Given the description of an element on the screen output the (x, y) to click on. 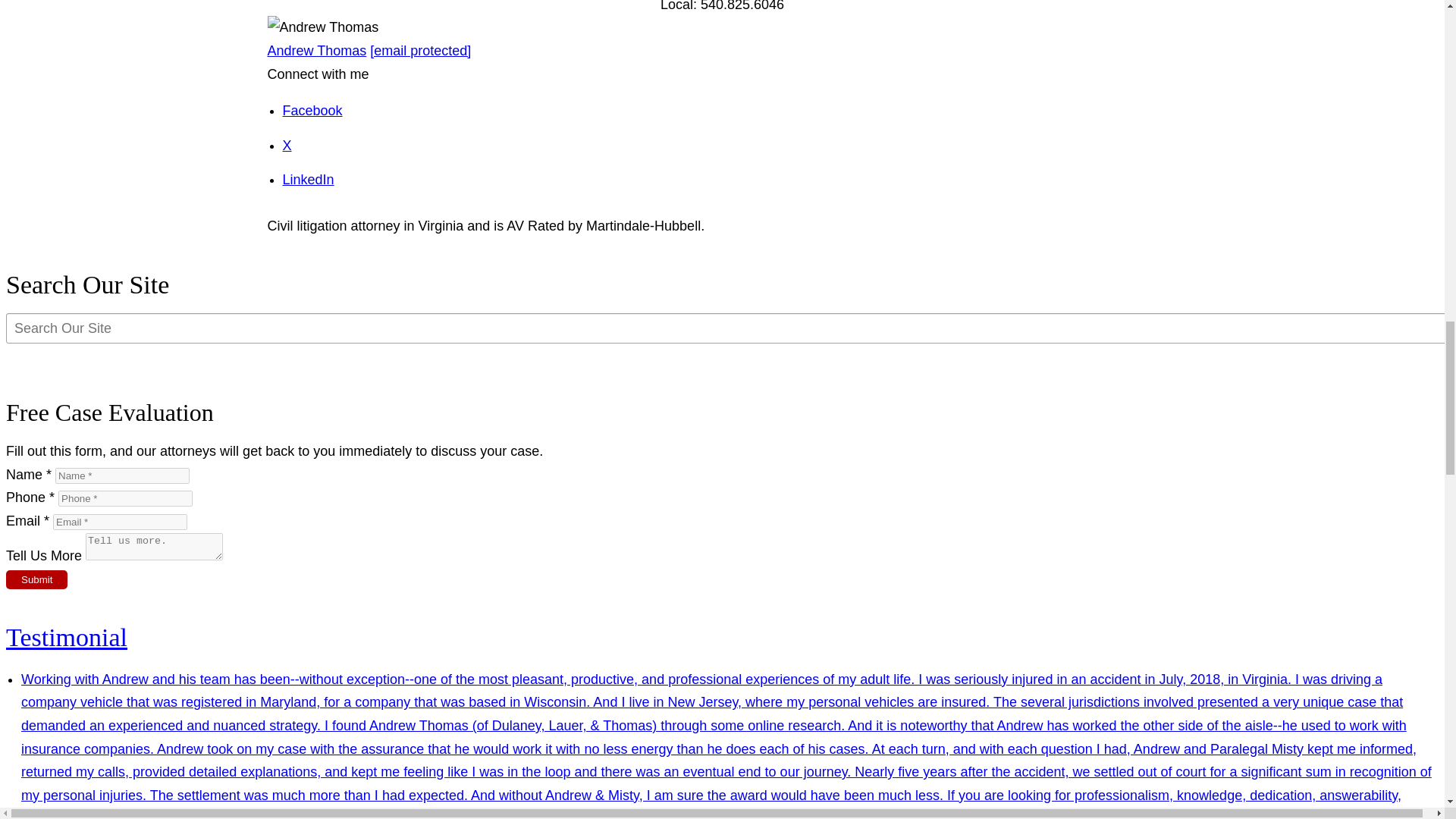
Connect with me on LinkedIn (307, 179)
Andrew Thomas (316, 50)
Facebook (312, 110)
LinkedIn (307, 179)
Find me on Facebook (312, 110)
Submit (35, 579)
